Given the description of an element on the screen output the (x, y) to click on. 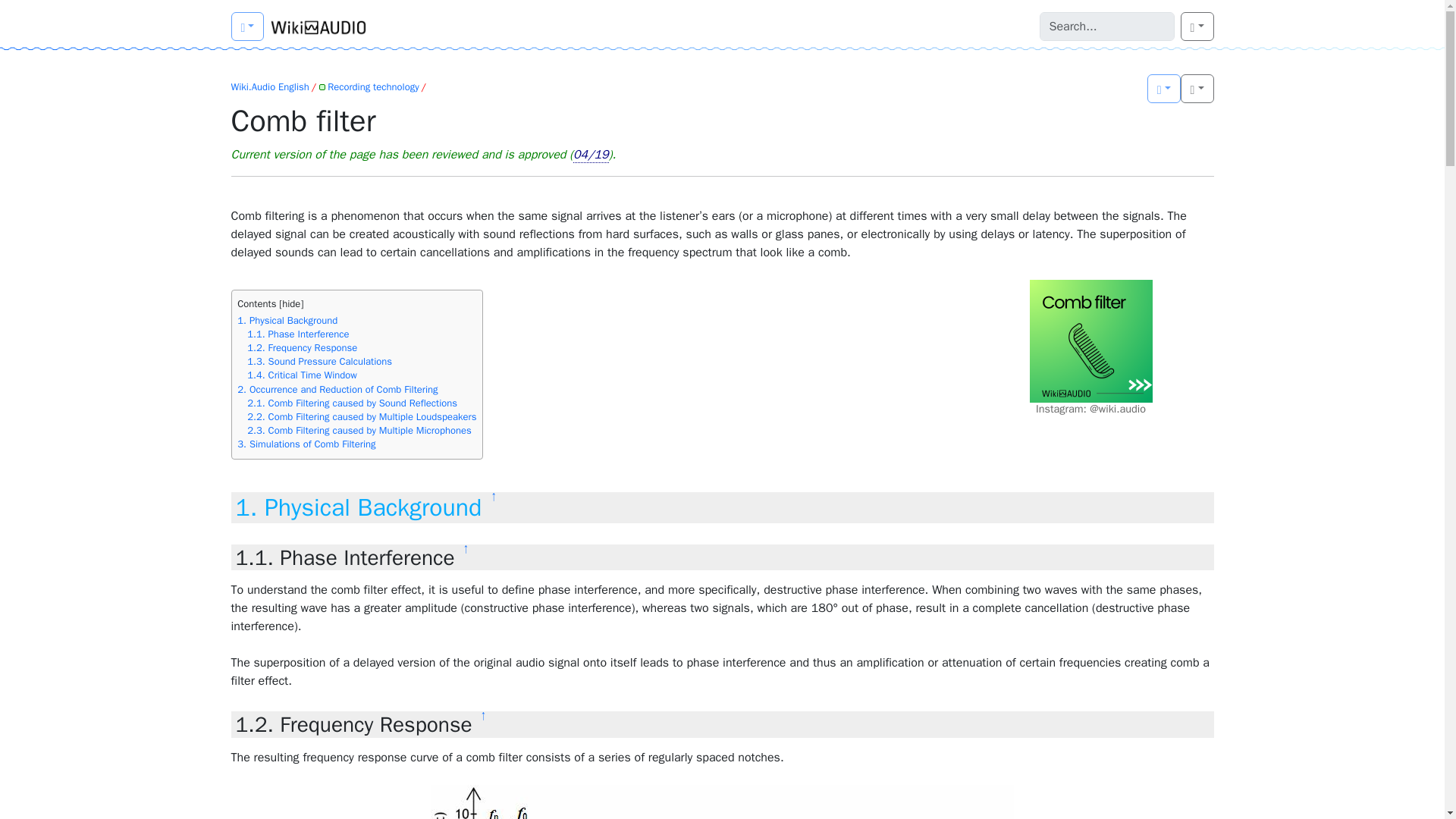
Wiki.Audio English (269, 86)
Wiki.Audio (317, 27)
Recording technology (368, 86)
User tools (1197, 26)
Wiki.Audio English (246, 26)
1.1. Phase Interference (361, 334)
Recording technology (368, 86)
Wiki.Audio English (269, 86)
1. Physical Background (356, 320)
Other languages (1163, 88)
